Given the description of an element on the screen output the (x, y) to click on. 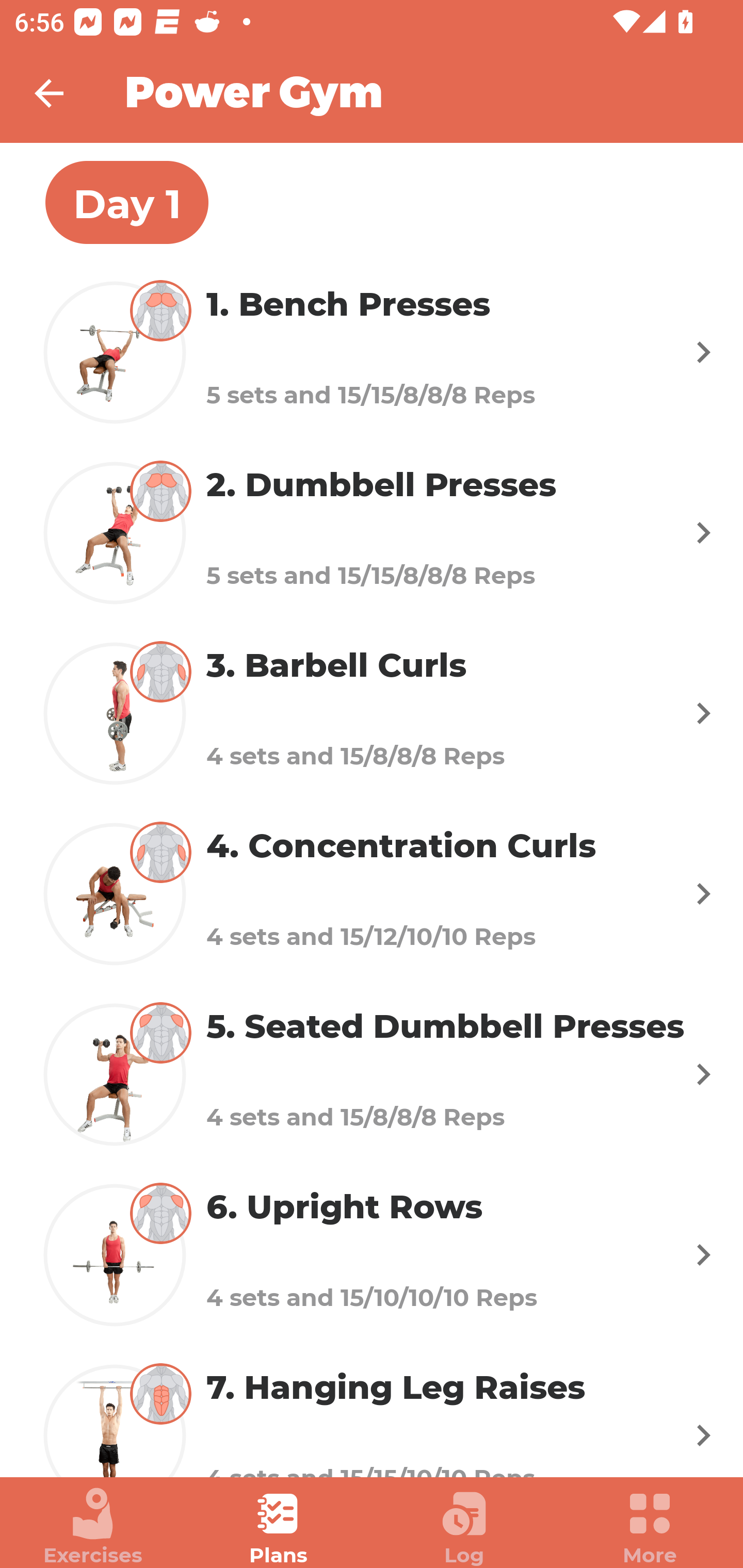
Back (62, 92)
1. Bench Presses 5 sets and 15/15/8/8/8 Reps (371, 351)
2. Dumbbell Presses 5 sets and 15/15/8/8/8 Reps (371, 532)
3. Barbell Curls 4 sets and 15/8/8/8 Reps (371, 712)
4. Concentration Curls 4 sets and 15/12/10/10 Reps (371, 893)
6. Upright Rows 4 sets and 15/10/10/10 Reps (371, 1255)
7. Hanging Leg Raises 4 sets and 15/15/10/10 Reps (371, 1411)
Exercises (92, 1527)
Plans (278, 1527)
Log (464, 1527)
More (650, 1527)
